Given the description of an element on the screen output the (x, y) to click on. 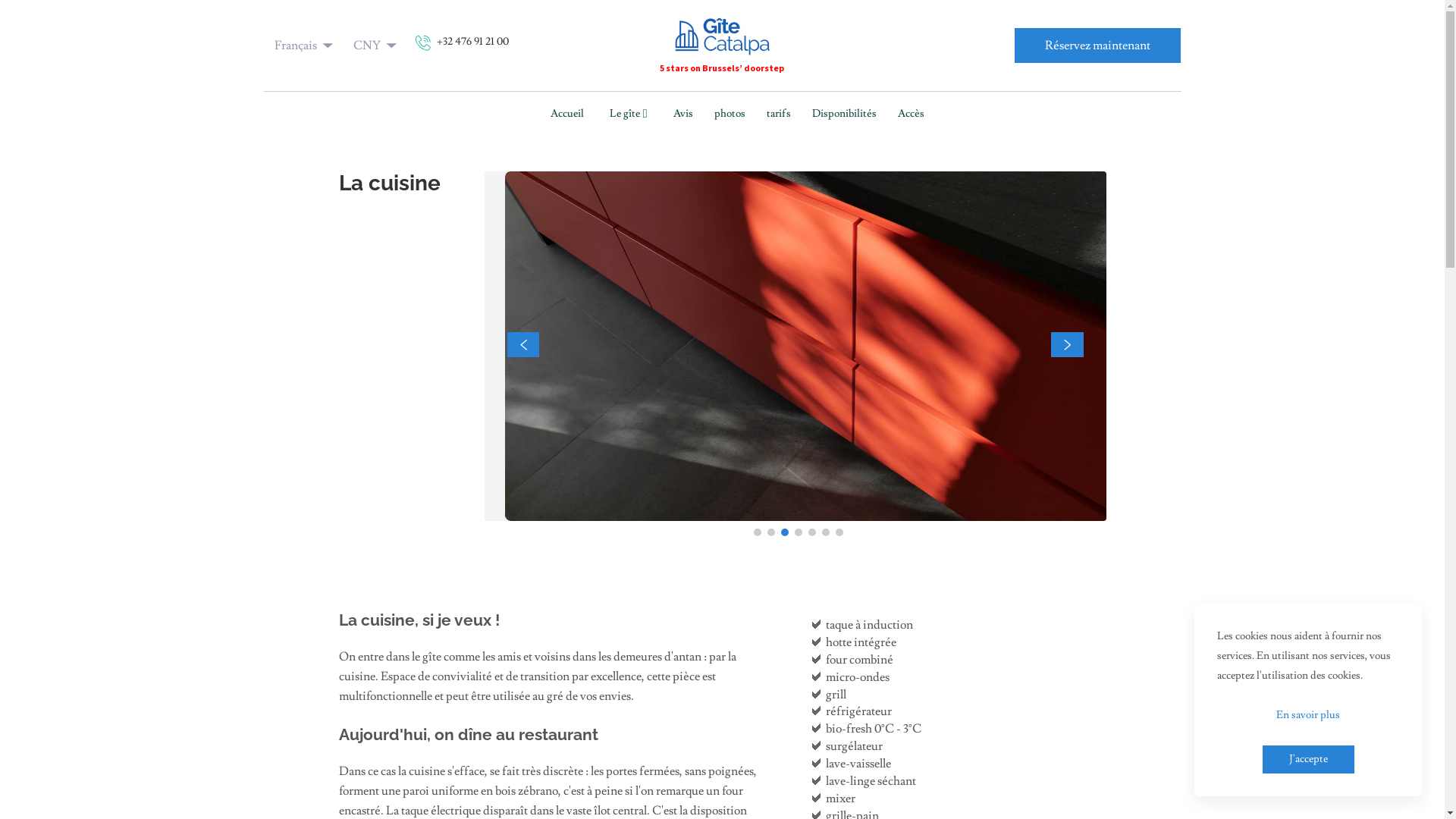
J'accepte Element type: text (1307, 759)
CNY Element type: text (377, 45)
+32 476 91 21 00 Element type: text (461, 45)
Image Title Element type: hover (945, 345)
tarifs Element type: text (778, 115)
En savoir plus Element type: text (1308, 715)
Accueil Element type: text (566, 115)
Image Title Element type: hover (353, 345)
Image Title Element type: hover (721, 36)
Avis Element type: text (683, 115)
photos Element type: text (729, 115)
